Given the description of an element on the screen output the (x, y) to click on. 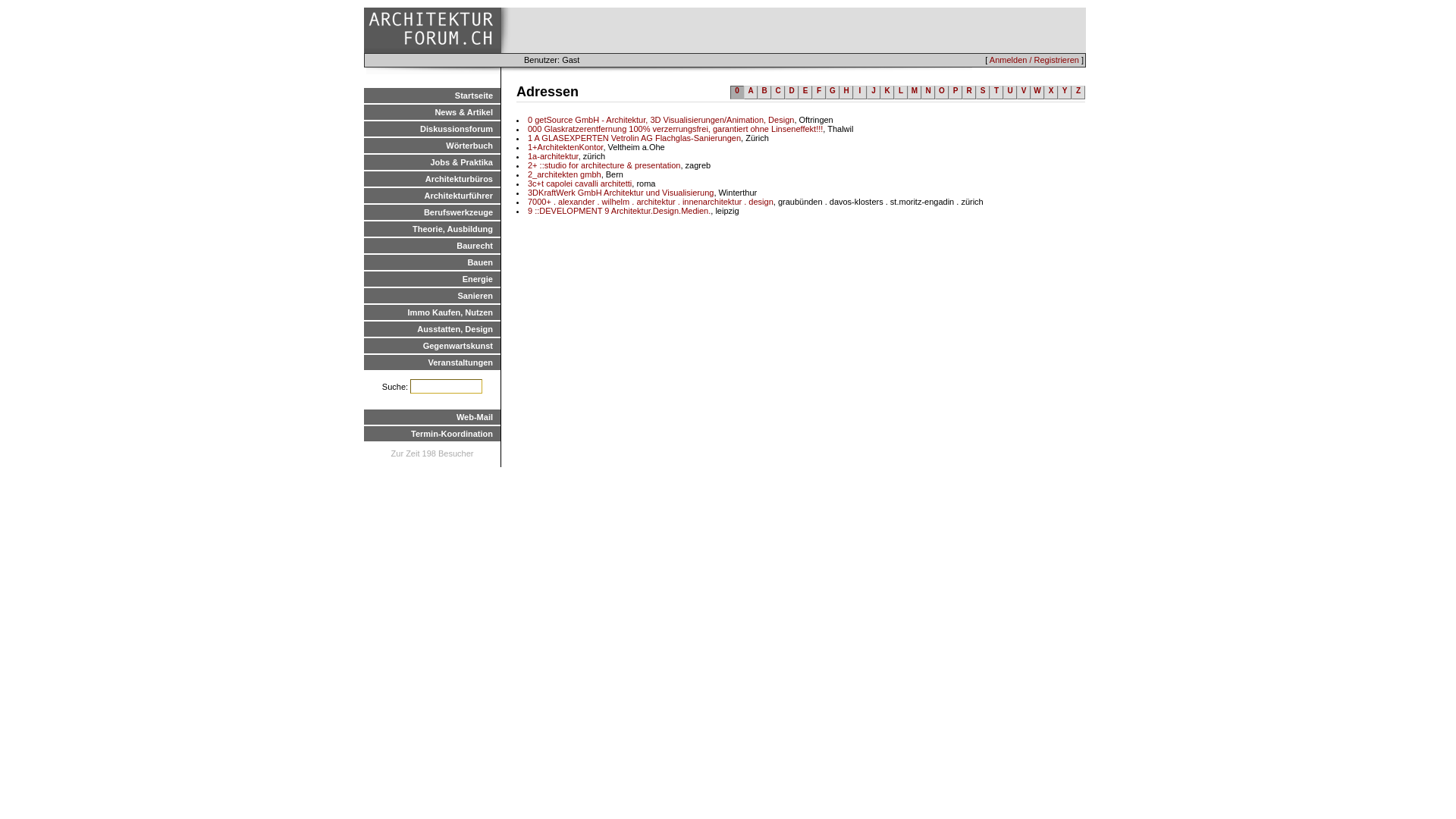
2_architekten gmbh Element type: text (564, 173)
L Element type: text (900, 92)
Berufswerkzeuge Element type: text (432, 211)
Bauen Element type: text (432, 261)
A Element type: text (750, 92)
V Element type: text (1023, 92)
T Element type: text (996, 92)
1a-architektur Element type: text (552, 155)
3c+t capolei cavalli architetti Element type: text (579, 183)
B Element type: text (764, 92)
R Element type: text (968, 92)
Theorie, Ausbildung Element type: text (432, 228)
0 Element type: text (736, 92)
2+ ::studio for architecture & presentation Element type: text (603, 164)
Gegenwartskunst Element type: text (432, 345)
W Element type: text (1037, 92)
3DKraftWerk GmbH Architektur und Visualisierung Element type: text (620, 192)
Baurecht Element type: text (432, 245)
Diskussionsforum Element type: text (432, 128)
Z Element type: text (1078, 92)
H Element type: text (846, 92)
M Element type: text (914, 92)
Veranstaltungen Element type: text (432, 362)
J Element type: text (873, 92)
Startseite Element type: text (432, 95)
D Element type: text (791, 92)
Sanieren Element type: text (432, 295)
N Element type: text (928, 92)
Energie Element type: text (432, 278)
F Element type: text (818, 92)
1 A GLASEXPERTEN Vetrolin AG Flachglas-Sanierungen Element type: text (633, 137)
I Element type: text (859, 92)
Anmelden / Registrieren Element type: text (1034, 59)
X Element type: text (1050, 92)
1+ArchitektenKontor Element type: text (564, 146)
E Element type: text (805, 92)
Immo Kaufen, Nutzen Element type: text (432, 312)
S Element type: text (982, 92)
G Element type: text (832, 92)
K Element type: text (887, 92)
O Element type: text (941, 92)
9 ::DEVELOPMENT 9 Architektur.Design.Medien. Element type: text (618, 210)
Termin-Koordination Element type: text (432, 433)
Web-Mail Element type: text (432, 416)
C Element type: text (777, 92)
P Element type: text (955, 92)
News & Artikel Element type: text (432, 111)
U Element type: text (1009, 92)
Jobs & Praktika Element type: text (432, 161)
Y Element type: text (1064, 92)
Ausstatten, Design Element type: text (432, 328)
